Given the description of an element on the screen output the (x, y) to click on. 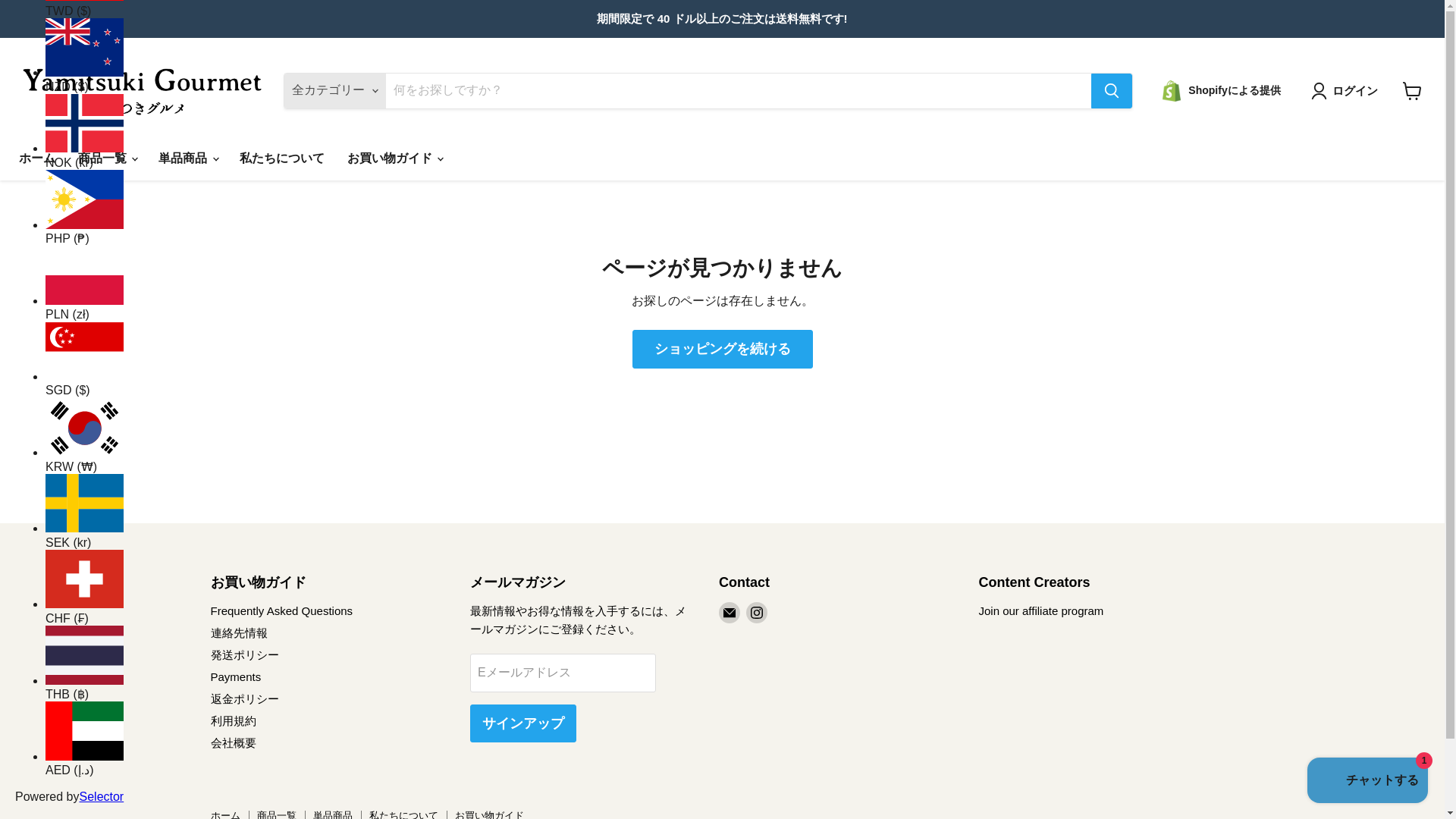
Instagram (756, 612)
